Given the description of an element on the screen output the (x, y) to click on. 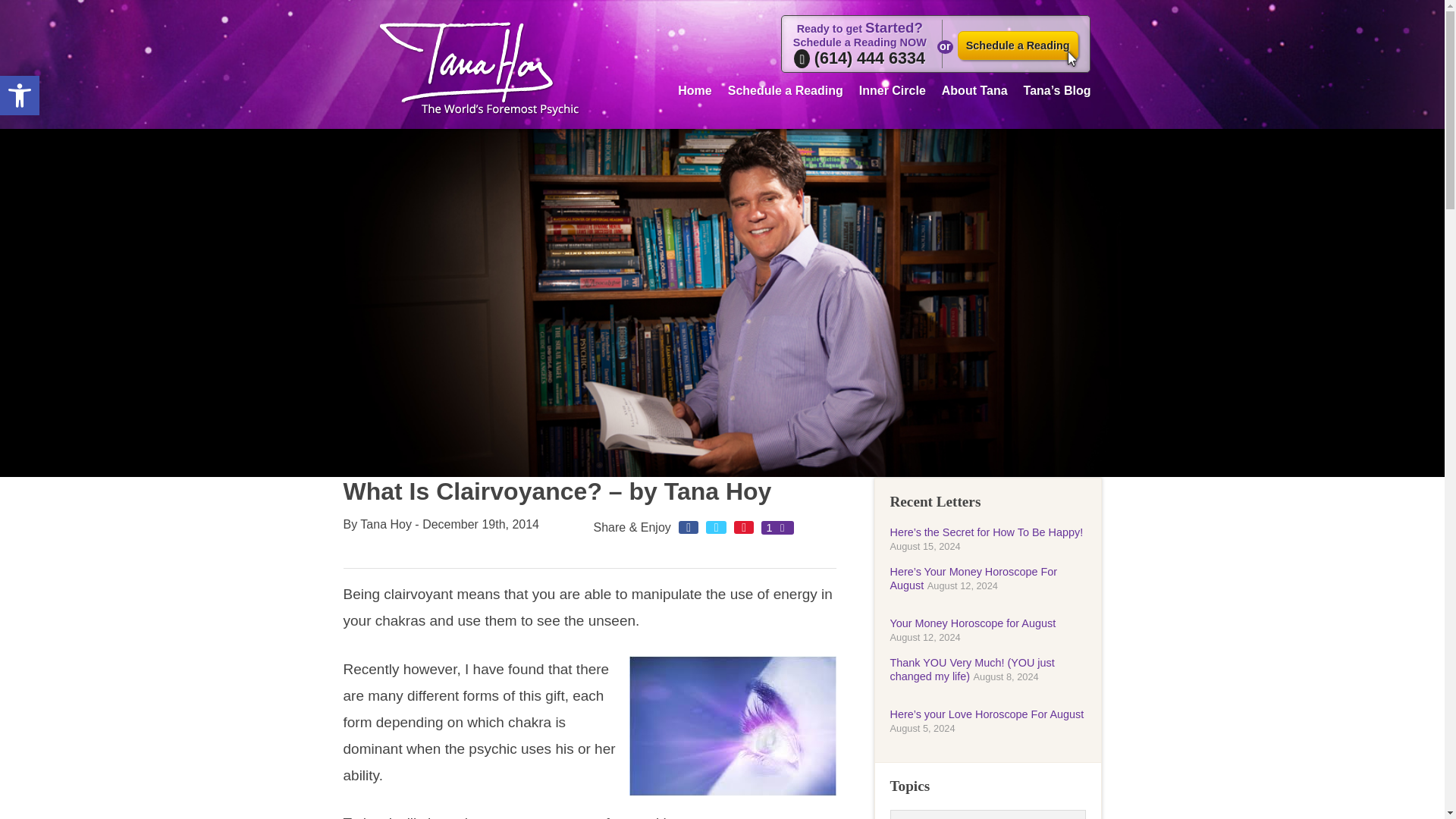
Schedule a Reading (1018, 45)
1 (777, 527)
Accessibility Tools (19, 95)
About Tana (974, 87)
Home (694, 87)
Your Money Horoscope for August (973, 623)
Schedule a Reading (785, 87)
Accessibility Tools (19, 95)
Inner Circle (19, 95)
